Given the description of an element on the screen output the (x, y) to click on. 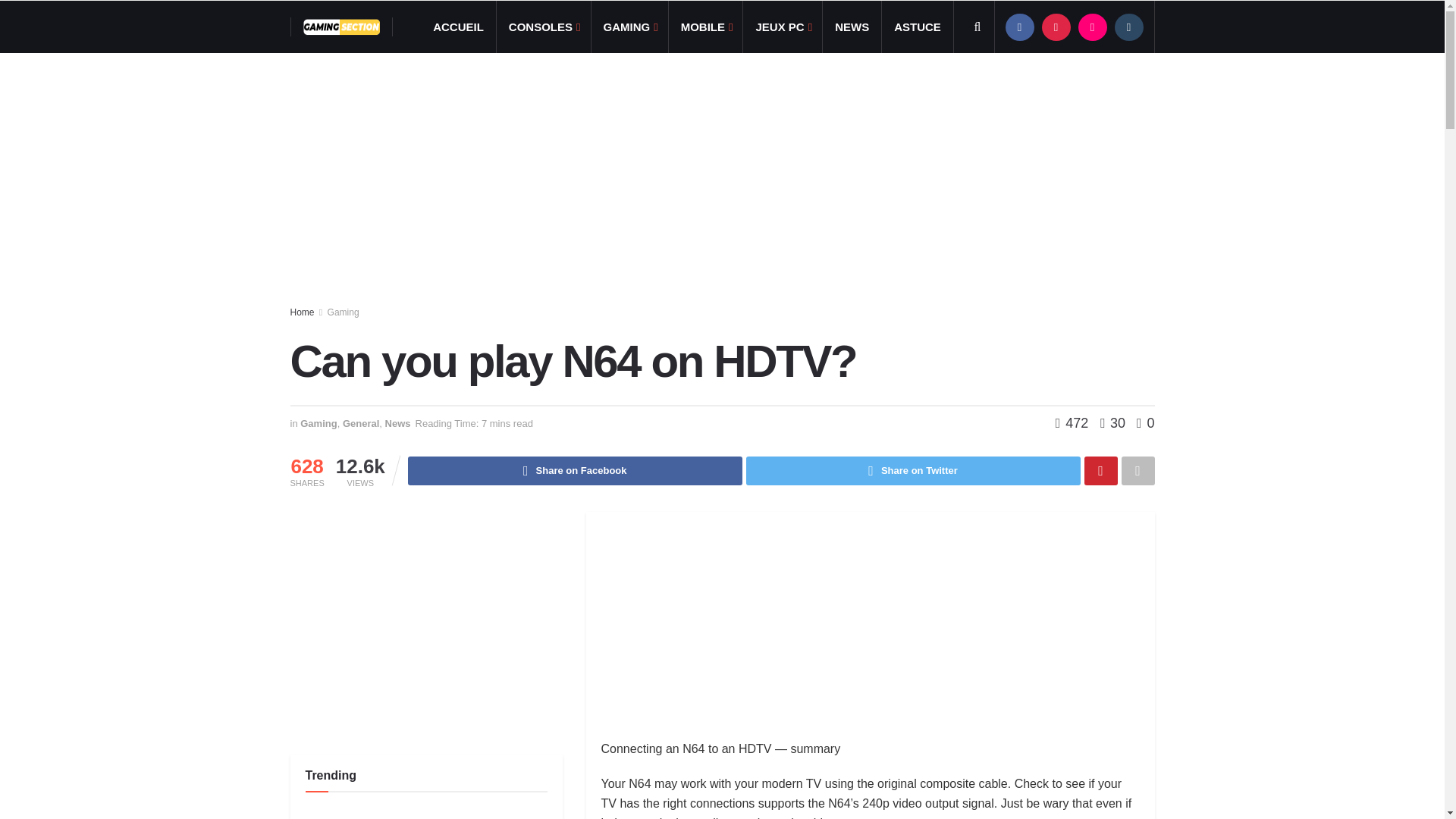
JEUX PC (782, 26)
ASTUCE (917, 26)
GAMING (629, 26)
MOBILE (705, 26)
Advertisement (868, 633)
CONSOLES (543, 26)
NEWS (851, 26)
ACCUEIL (458, 26)
